Given the description of an element on the screen output the (x, y) to click on. 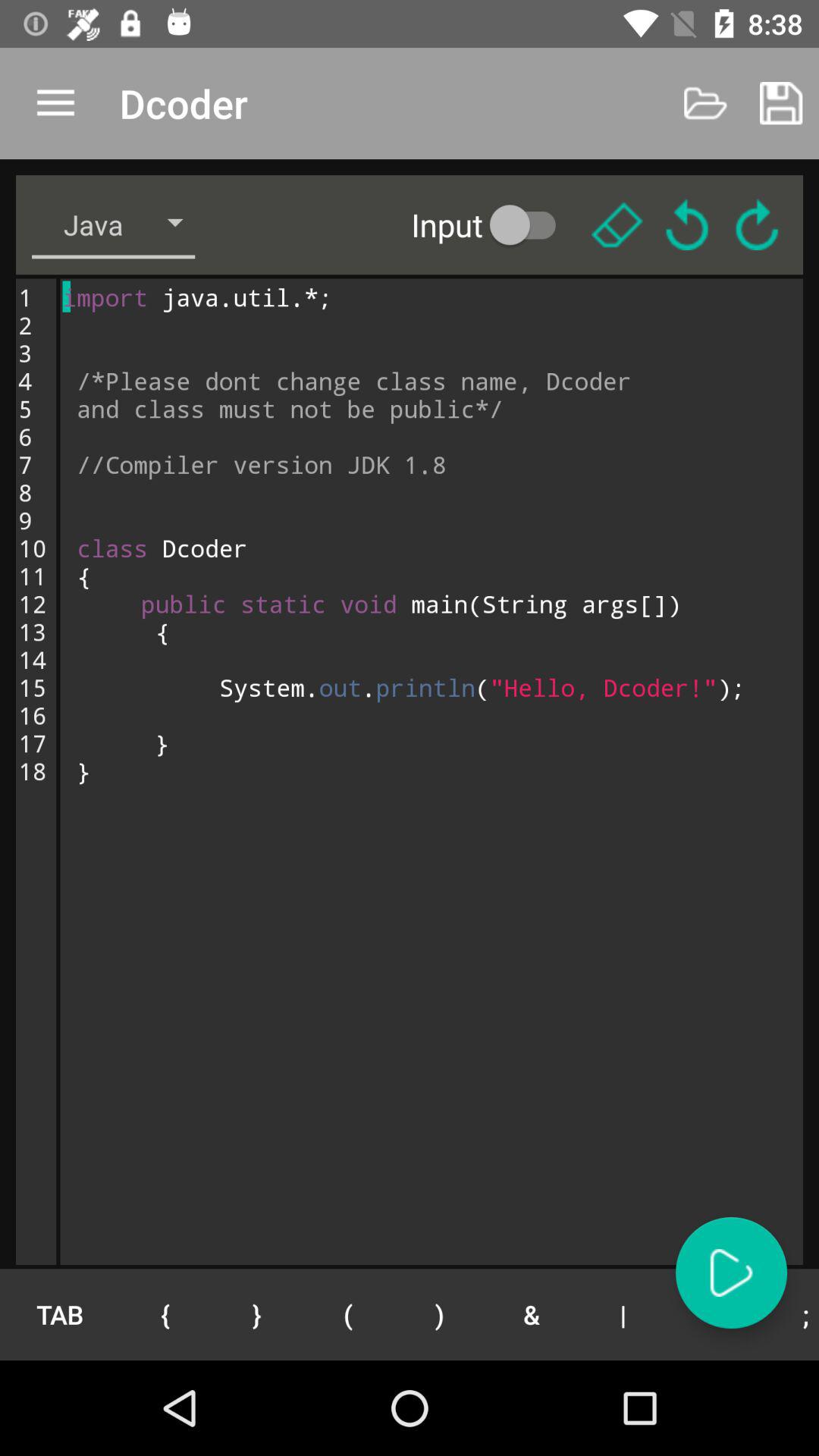
go to next (731, 1272)
